Given the description of an element on the screen output the (x, y) to click on. 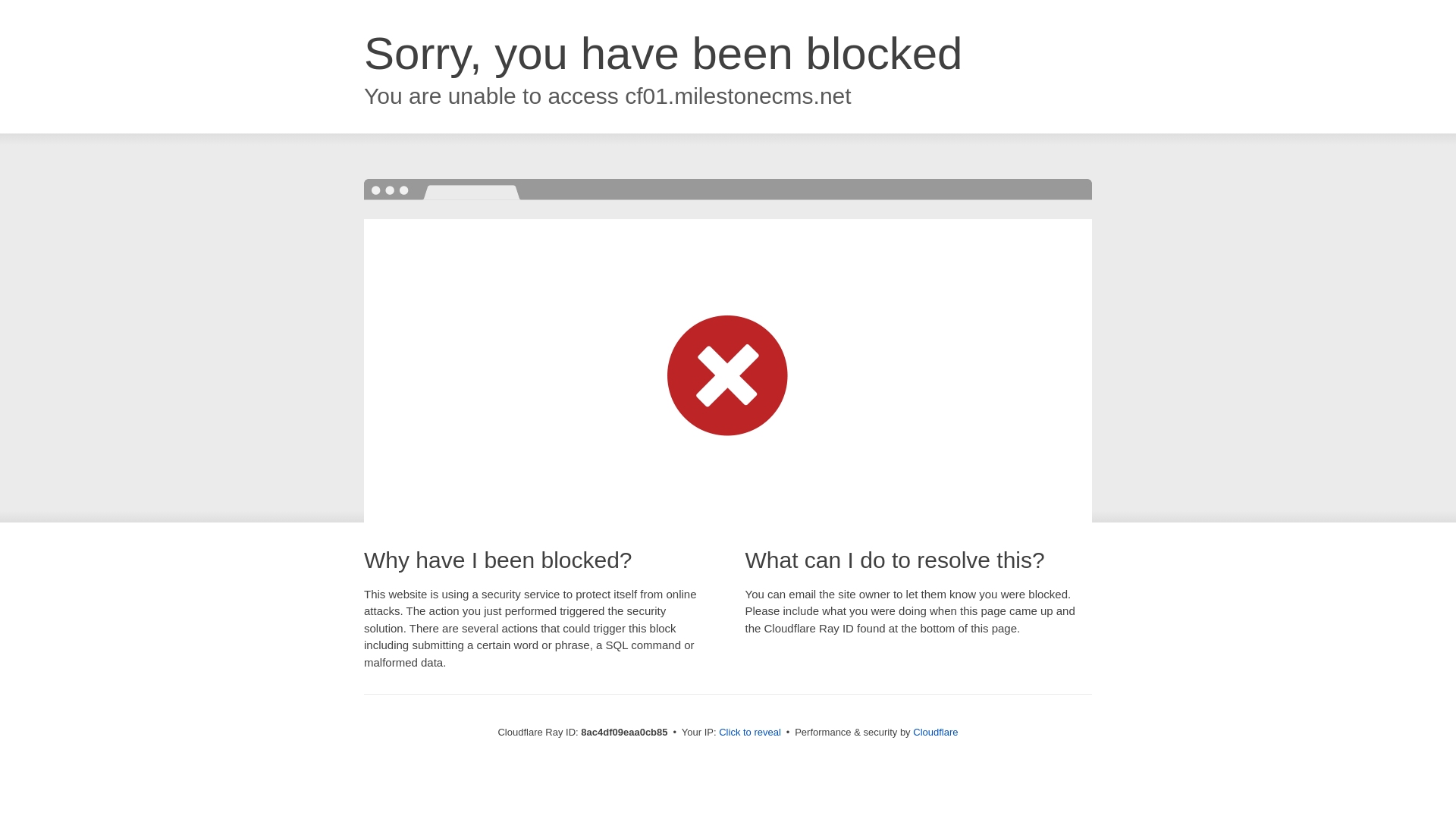
Cloudflare (935, 731)
Click to reveal (749, 732)
